Given the description of an element on the screen output the (x, y) to click on. 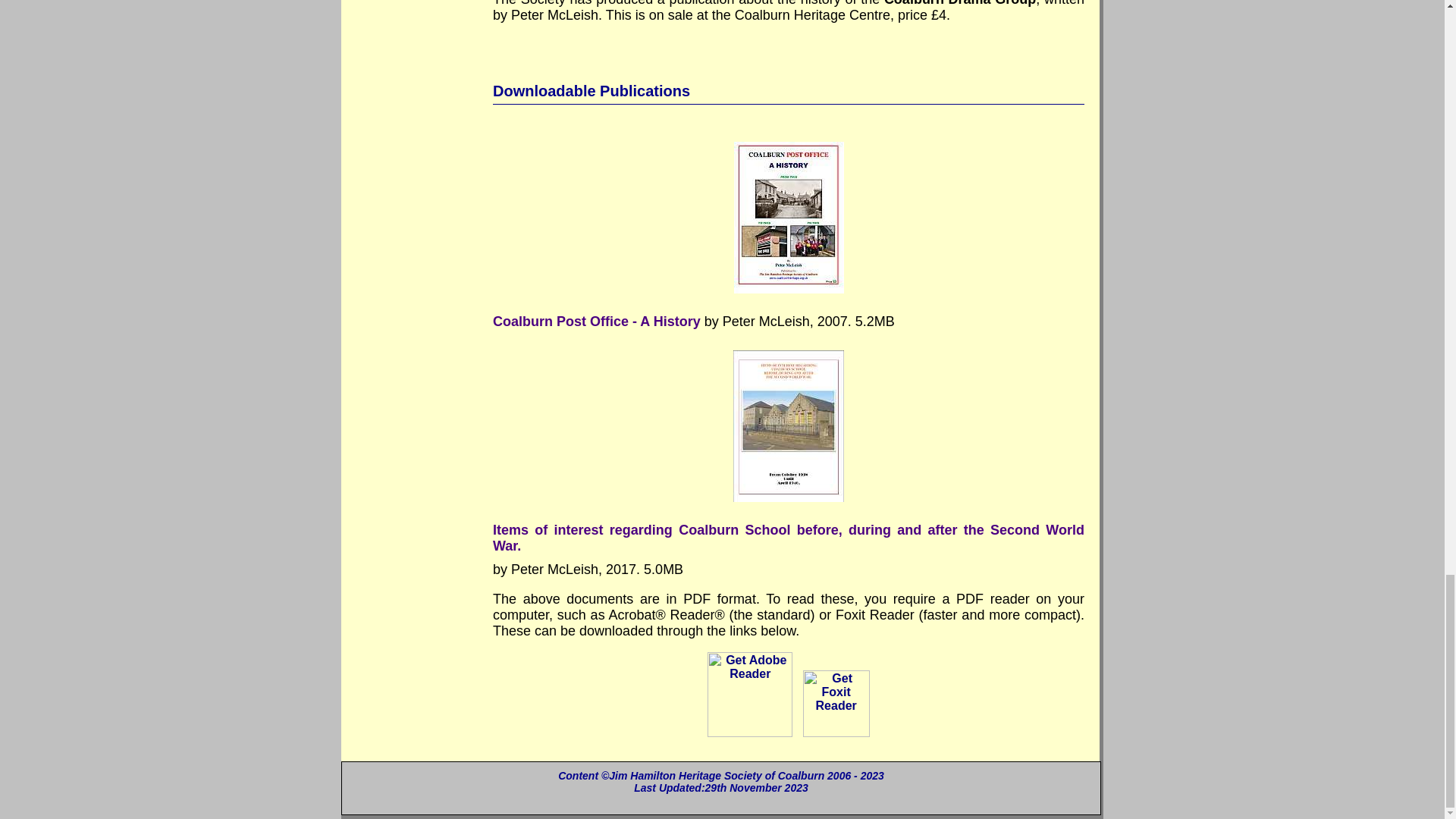
Structure of footer to page (720, 787)
Coalburn Post Office - A History (596, 321)
